Given the description of an element on the screen output the (x, y) to click on. 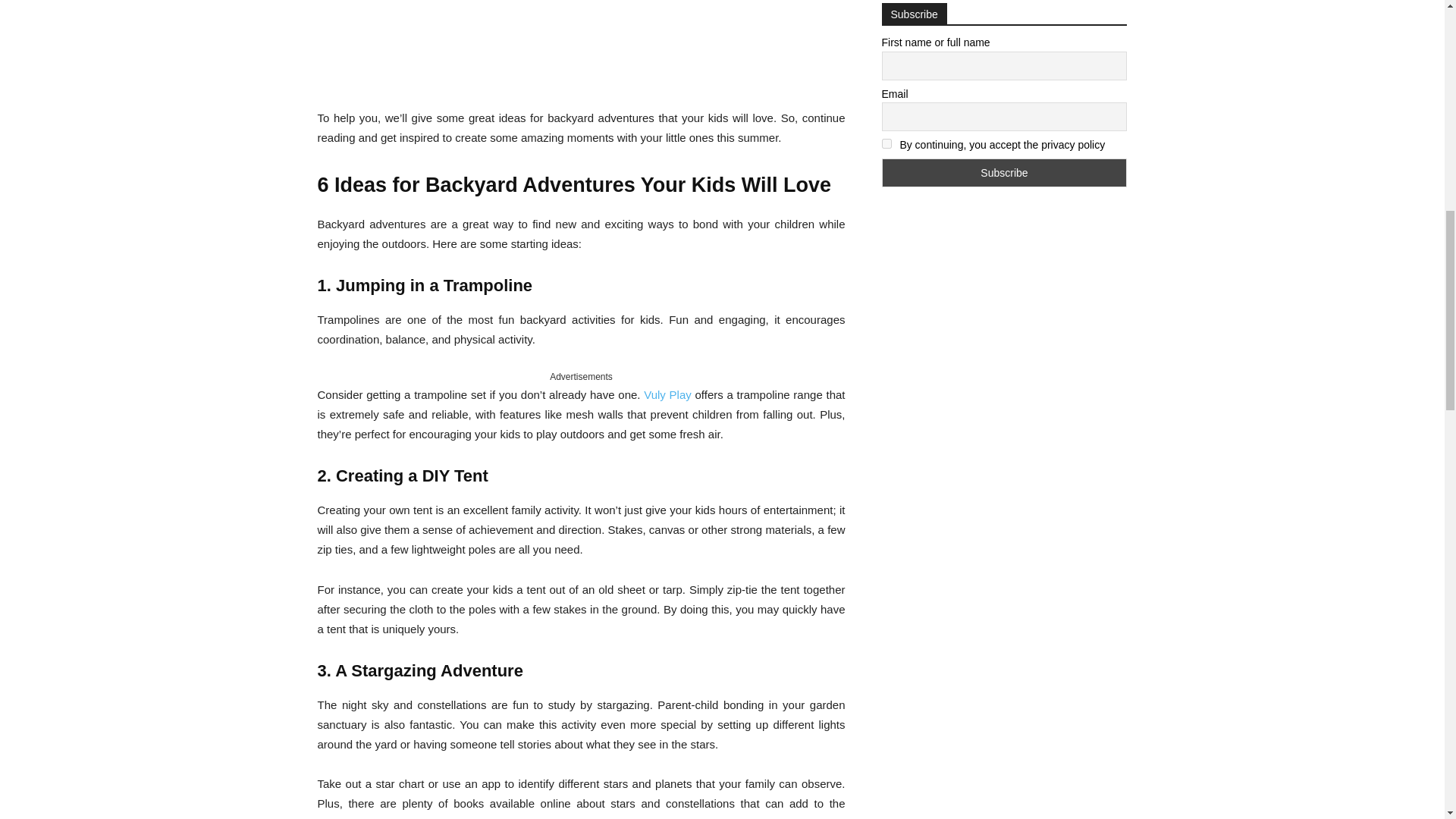
Subscribe (1003, 172)
summer backyard adventures for kids (580, 44)
on (885, 143)
